Given the description of an element on the screen output the (x, y) to click on. 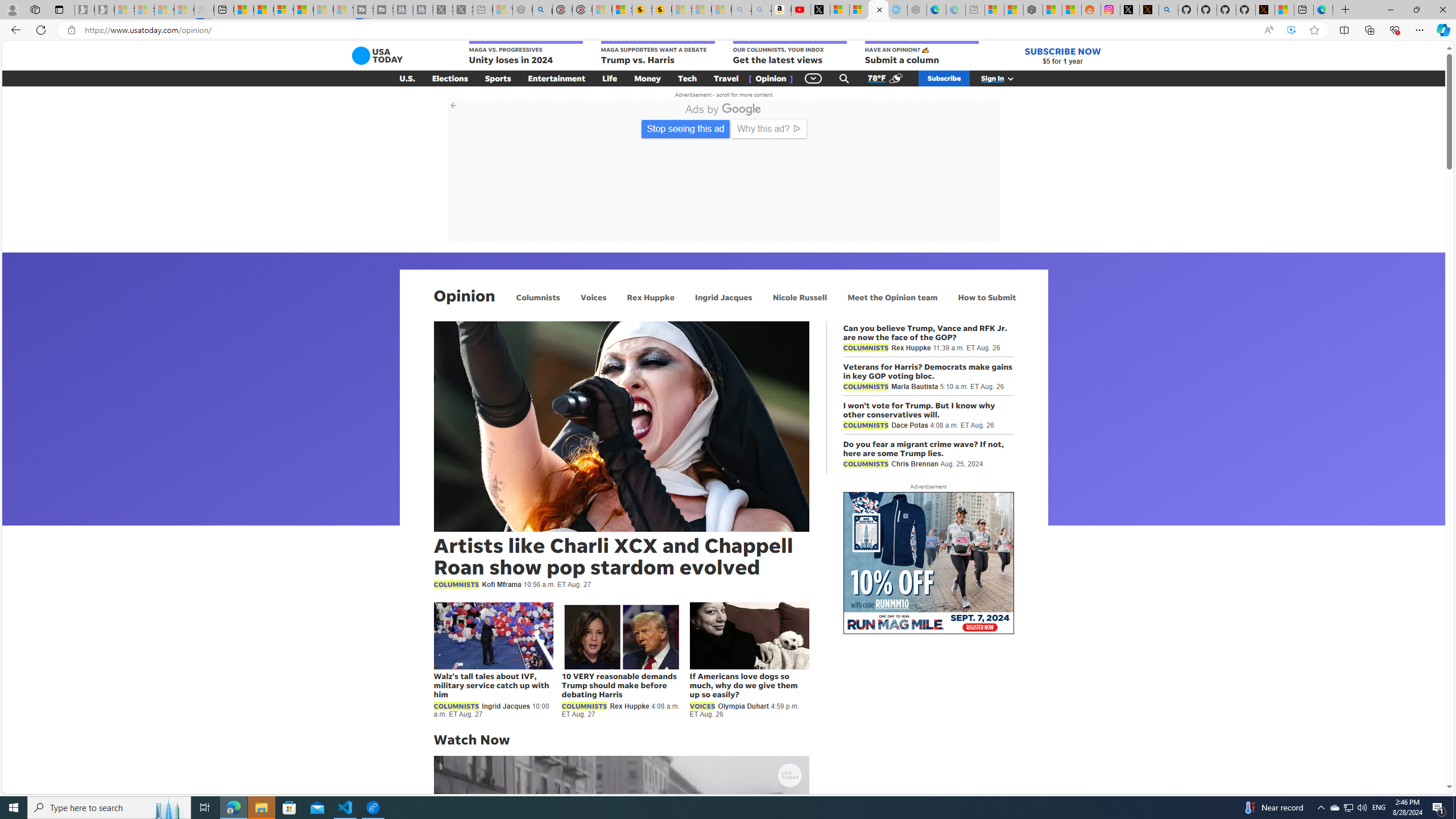
[ Opinion ] (770, 78)
U.S. (406, 78)
Enhance video (1291, 29)
SUBSCRIBE NOW $5 for 1 year (1062, 55)
Register for TRF North Asia (838, 134)
Elections (449, 78)
Sign In (1002, 78)
